Given the description of an element on the screen output the (x, y) to click on. 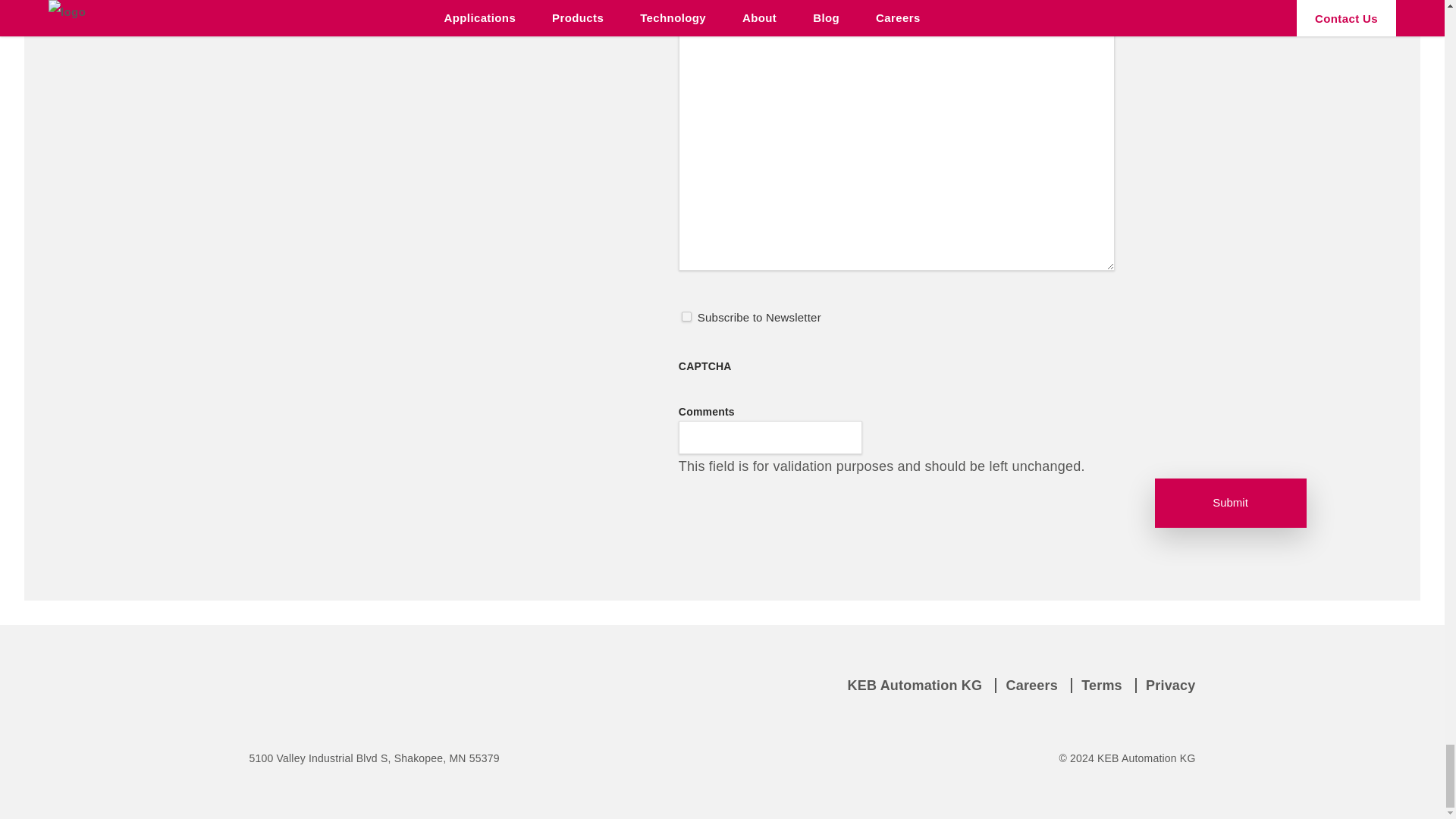
Subscribe to Newsletter (686, 316)
Submit (1230, 502)
